Given the description of an element on the screen output the (x, y) to click on. 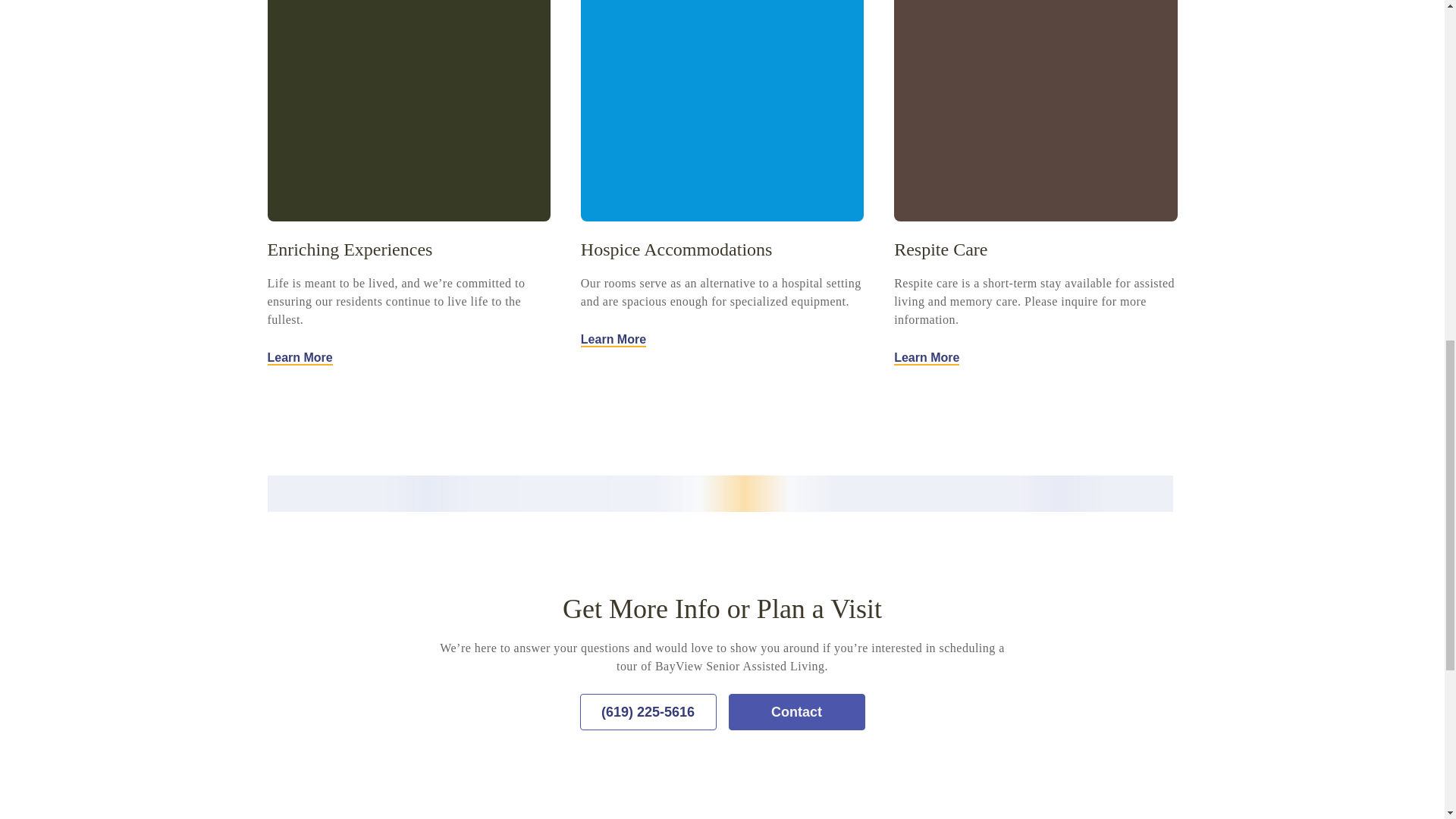
Learn More (298, 358)
Contact (796, 711)
Learn More (926, 358)
Learn More (613, 339)
